Given the description of an element on the screen output the (x, y) to click on. 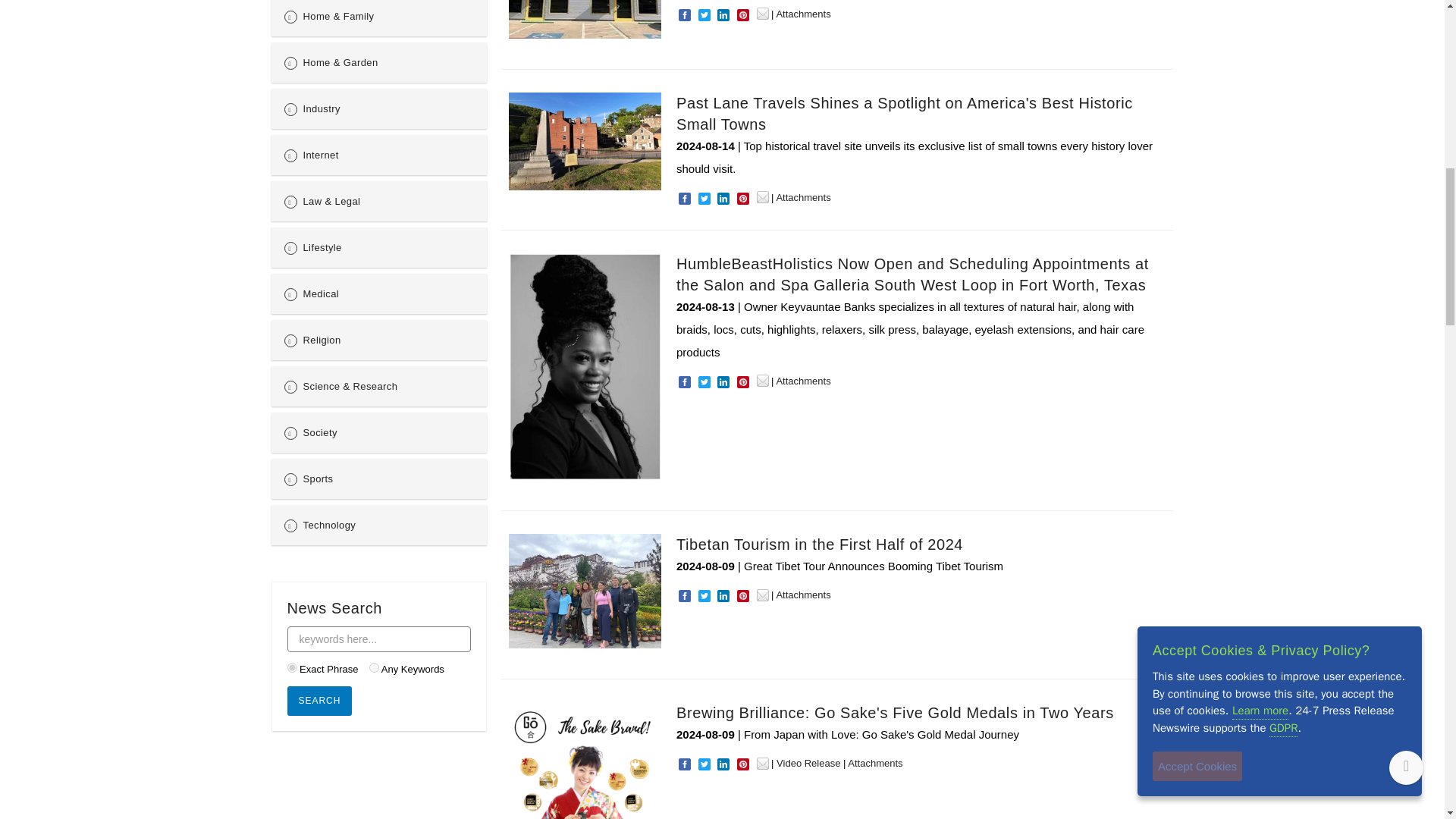
E (291, 667)
N (373, 667)
SEARCH (319, 700)
